Given the description of an element on the screen output the (x, y) to click on. 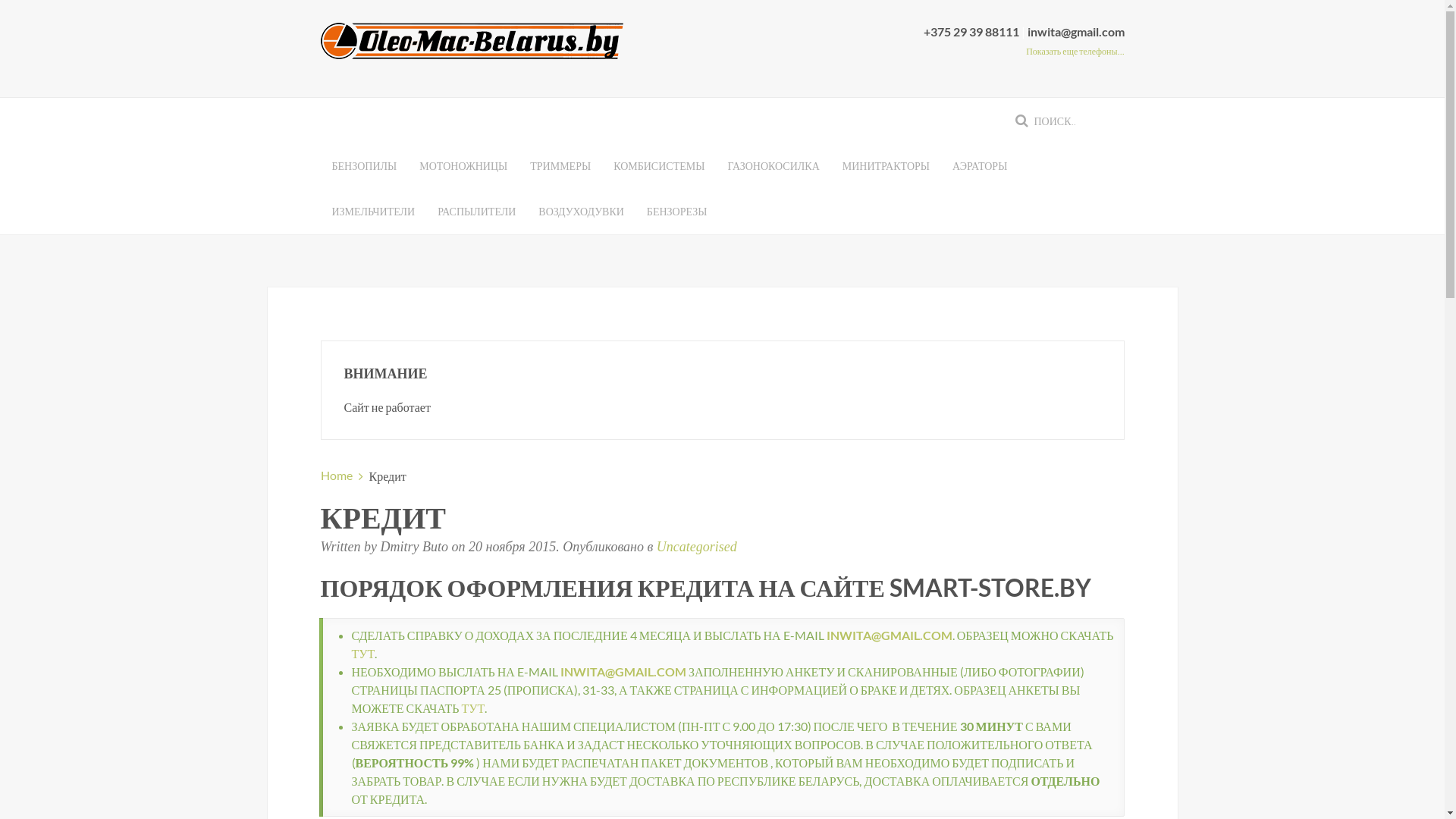
+375 29 39 88111 Element type: text (972, 31)
Uncategorised Element type: text (696, 546)
INWITA@GMAIL.COM Element type: text (889, 634)
INWITA@GMAIL.COM Element type: text (623, 671)
Home Element type: text (335, 475)
inwita@gmail.com Element type: text (1074, 31)
